Given the description of an element on the screen output the (x, y) to click on. 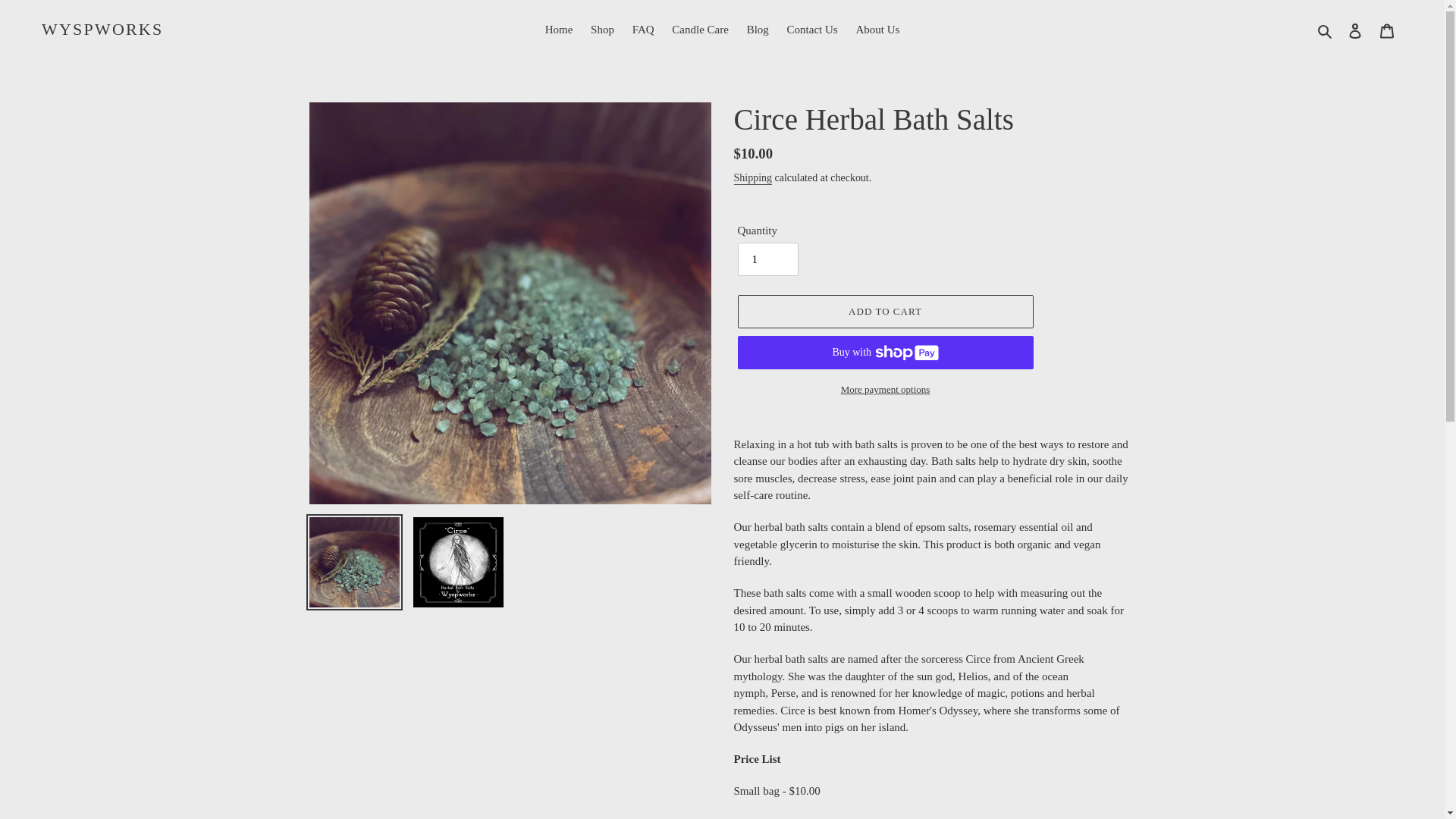
Contact Us (811, 29)
Blog (757, 29)
Shipping (753, 178)
ADD TO CART (884, 311)
Cart (1387, 29)
About Us (877, 29)
WYSPWORKS (102, 29)
1 (766, 259)
Home (558, 29)
FAQ (643, 29)
Search (1326, 29)
More payment options (884, 389)
Candle Care (699, 29)
Log in (1355, 29)
Shop (602, 29)
